Given the description of an element on the screen output the (x, y) to click on. 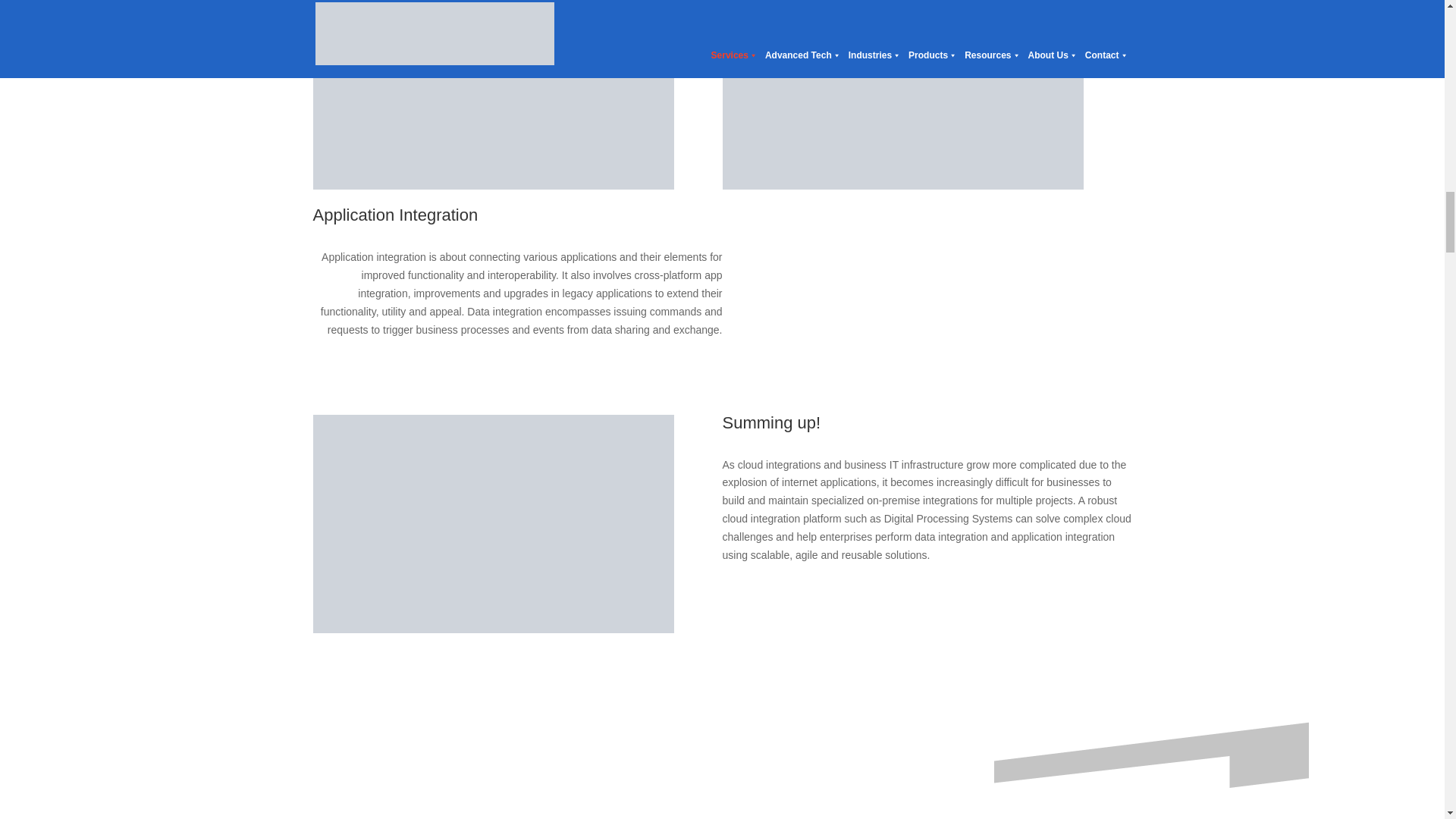
img13 (492, 523)
img12 (902, 94)
img12 (492, 94)
